Given the description of an element on the screen output the (x, y) to click on. 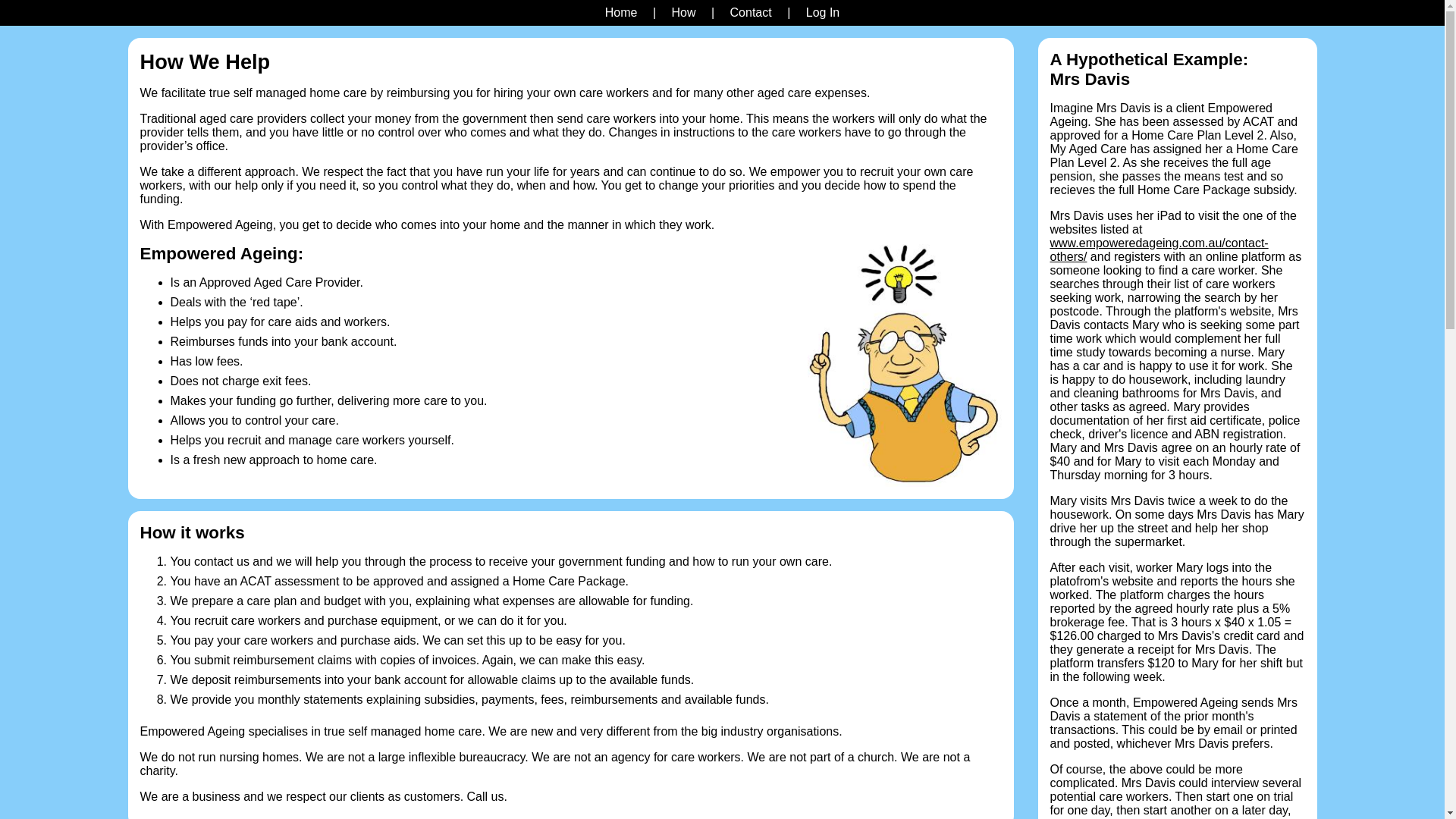
How Element type: text (683, 12)
www.empoweredageing.com.au/contact-others/ Element type: text (1158, 249)
Contact Element type: text (751, 12)
Log In Element type: text (822, 12)
Home Element type: text (621, 12)
